Given the description of an element on the screen output the (x, y) to click on. 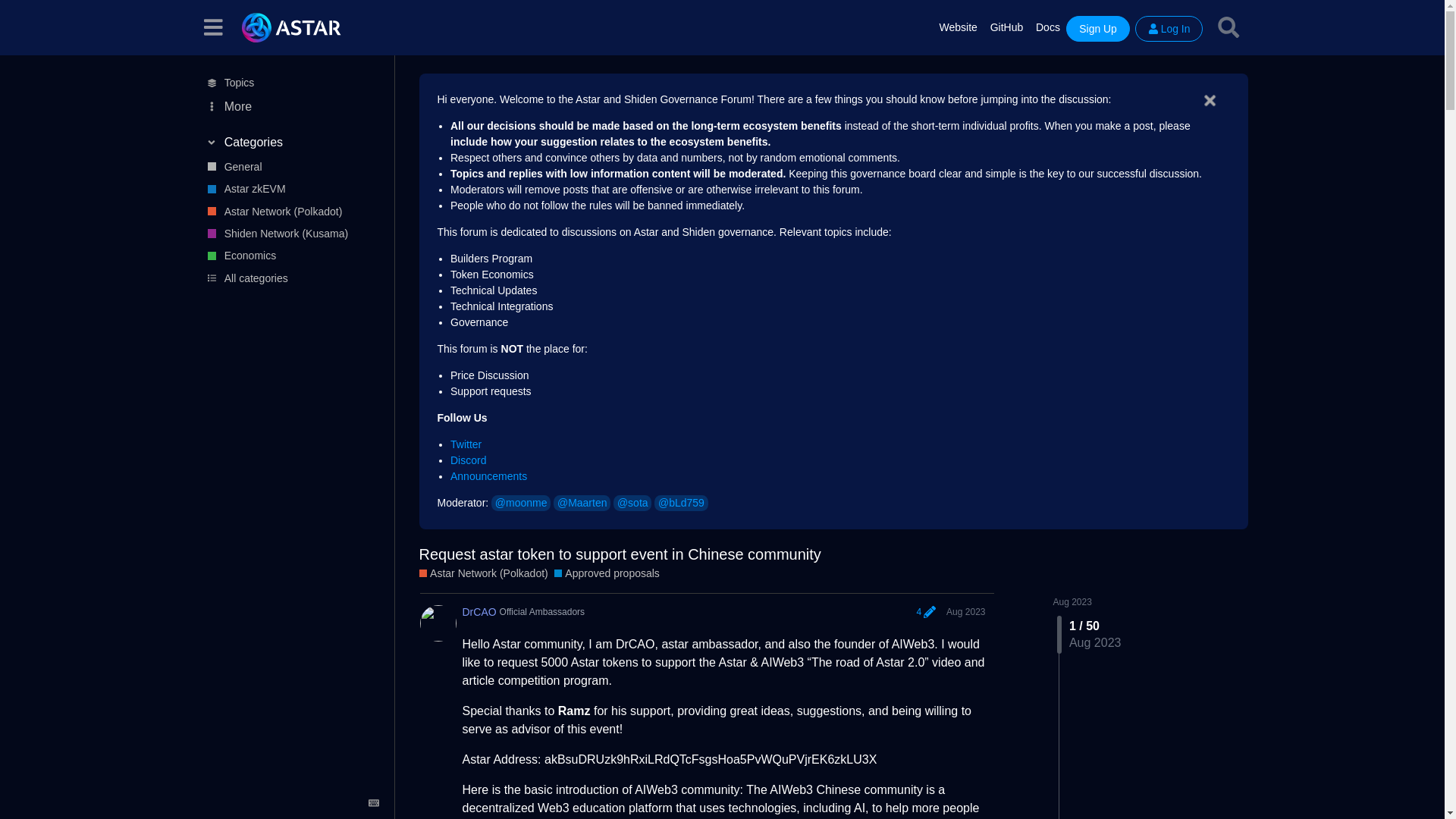
Log In (1169, 28)
Docs (1048, 26)
Request astar token to support event in Chinese community (620, 554)
Announcements (488, 476)
General (290, 166)
All categories (290, 277)
Aug 2023 (965, 611)
Economics (290, 255)
Twitter (465, 444)
All topics (290, 83)
Aug 15, 2023 5:14 am (965, 611)
DrCAO (479, 611)
Search (1227, 27)
Docs (1048, 26)
Dismiss this banner (1209, 100)
